Given the description of an element on the screen output the (x, y) to click on. 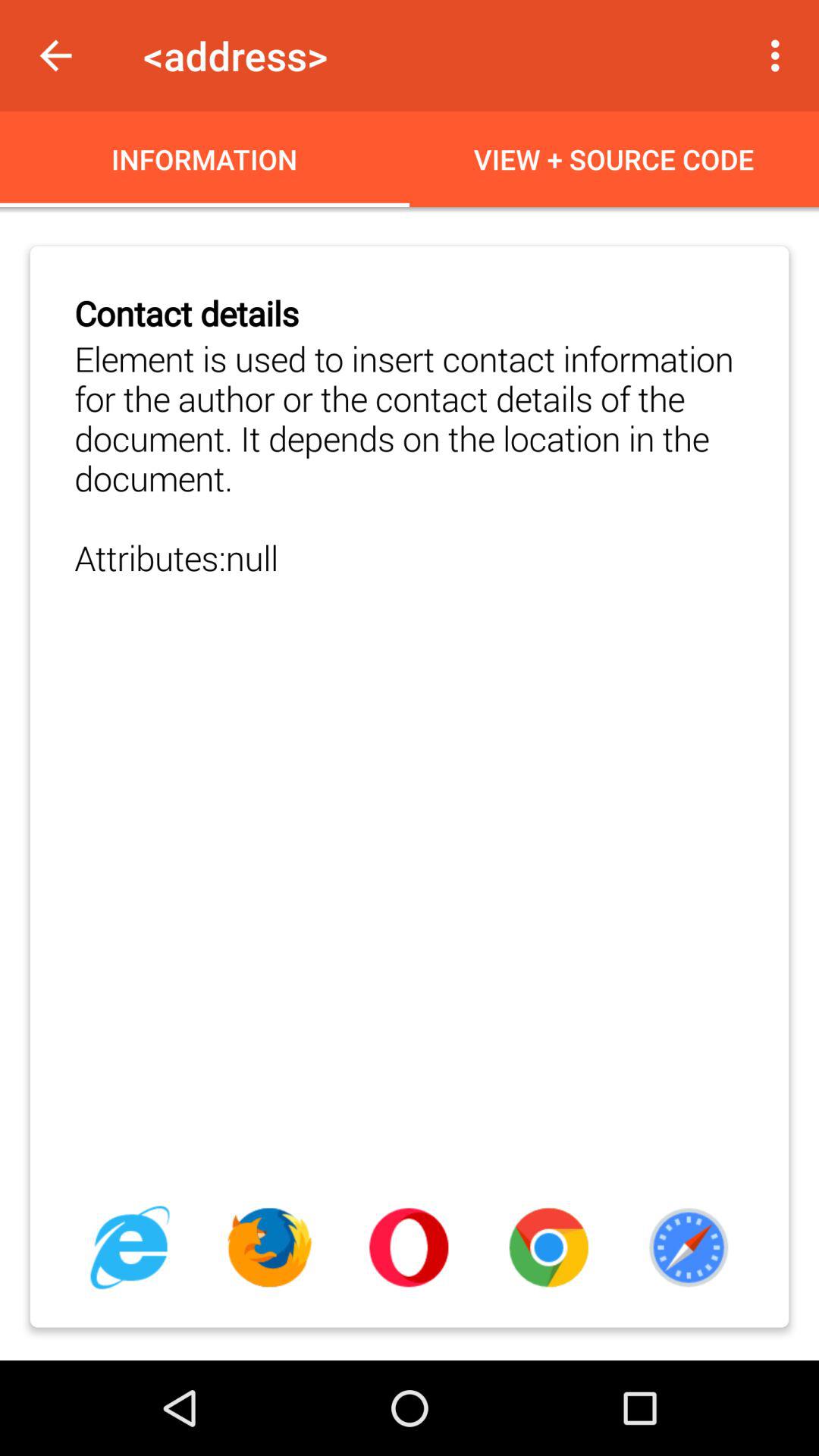
select the icon left to firefox (129, 1247)
